Given the description of an element on the screen output the (x, y) to click on. 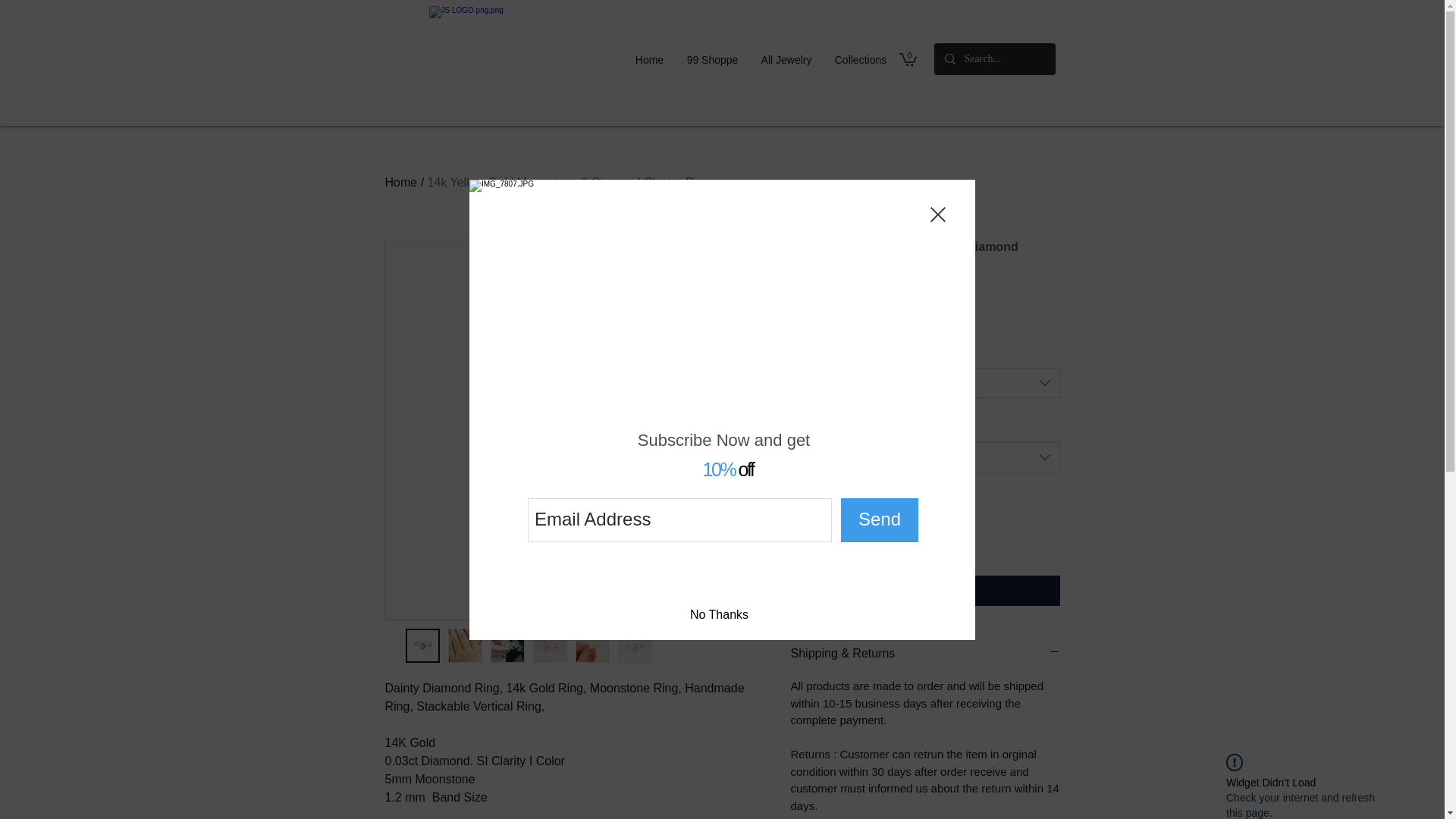
0 (908, 58)
0 (908, 58)
Select (924, 457)
Home (401, 182)
Select (924, 382)
Home (649, 59)
Add to Cart (924, 590)
99 Shoppe (712, 59)
Back to site (937, 214)
1 (823, 533)
